Given the description of an element on the screen output the (x, y) to click on. 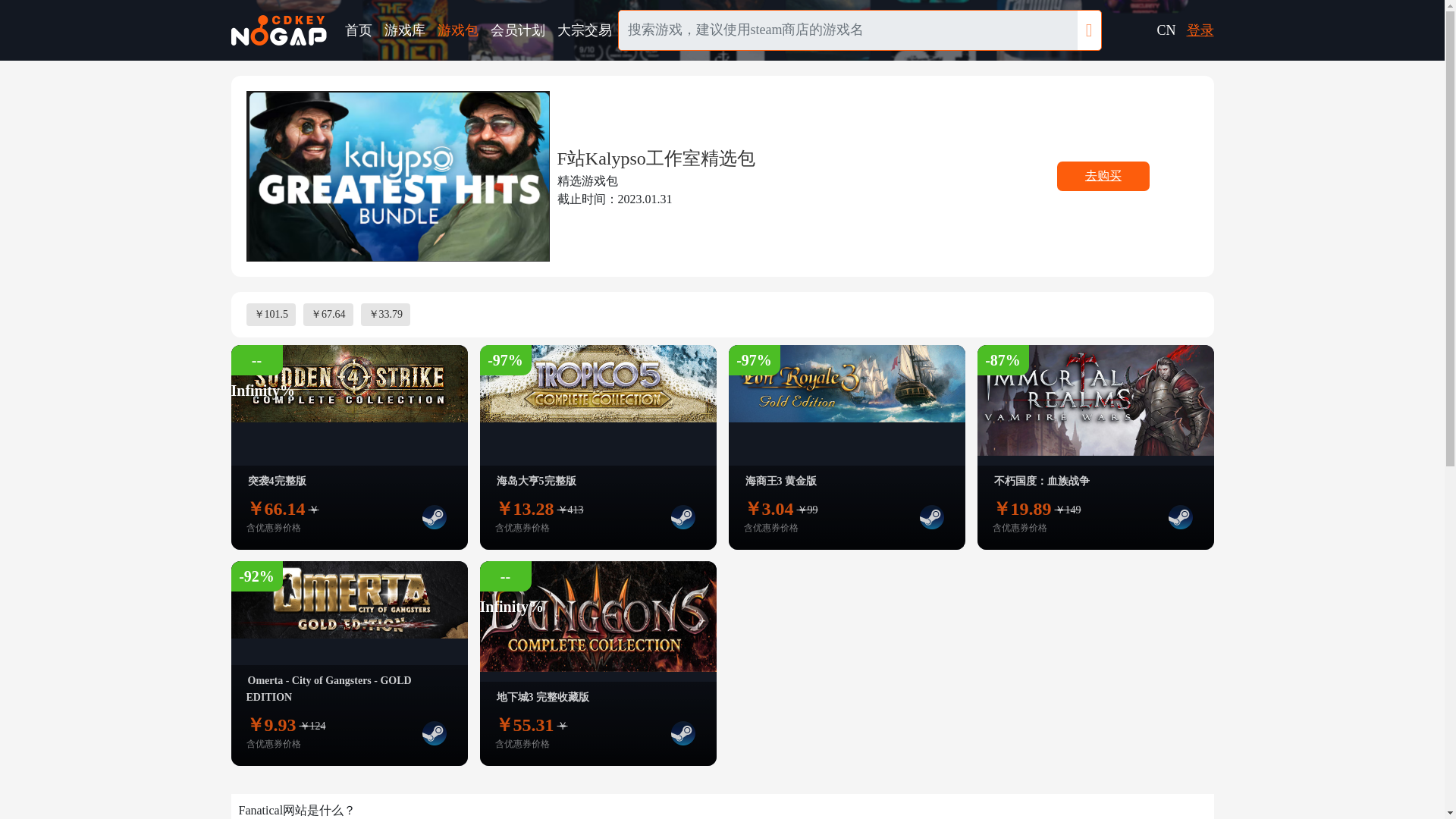
Steam (930, 517)
Steam (1179, 517)
Steam (681, 517)
Steam (433, 517)
Steam (681, 733)
Steam (433, 733)
CN (1165, 29)
Omerta - City of Gangsters - GOLD EDITION (328, 688)
